Given the description of an element on the screen output the (x, y) to click on. 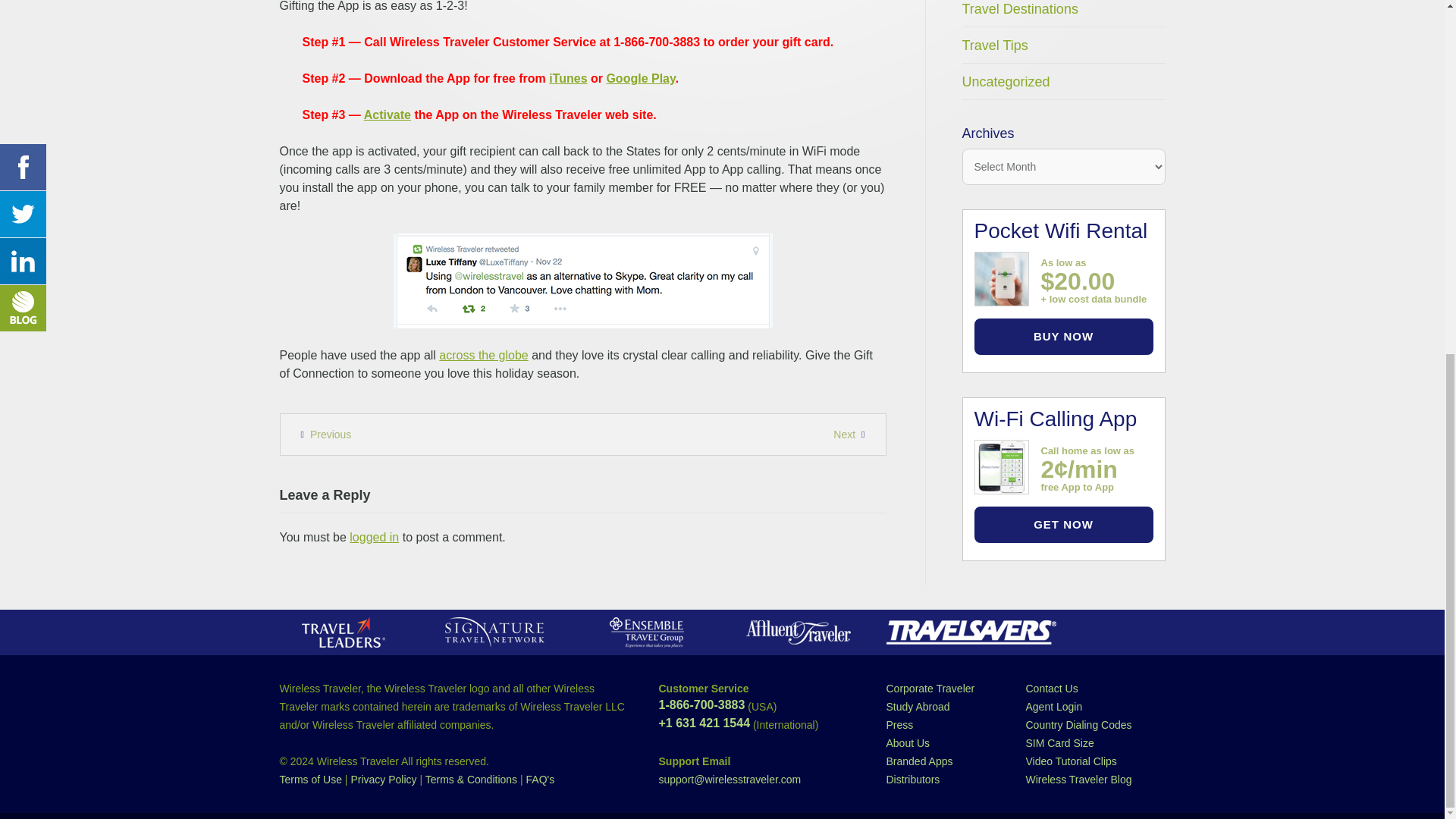
Google Play (640, 78)
Next (851, 434)
GET NOW (1063, 524)
Download Wireless Traveler App on Google Play (640, 78)
FAQ's (539, 779)
Privacy Policy (383, 779)
Buy Now (1063, 336)
across the globe (483, 354)
iTunes (567, 78)
Activate (387, 114)
logged in (373, 536)
Terms of Use (309, 779)
Previous (322, 434)
Activate Wireless Traveler App (387, 114)
Download Wireless Traveler App on iTunes (567, 78)
